Given the description of an element on the screen output the (x, y) to click on. 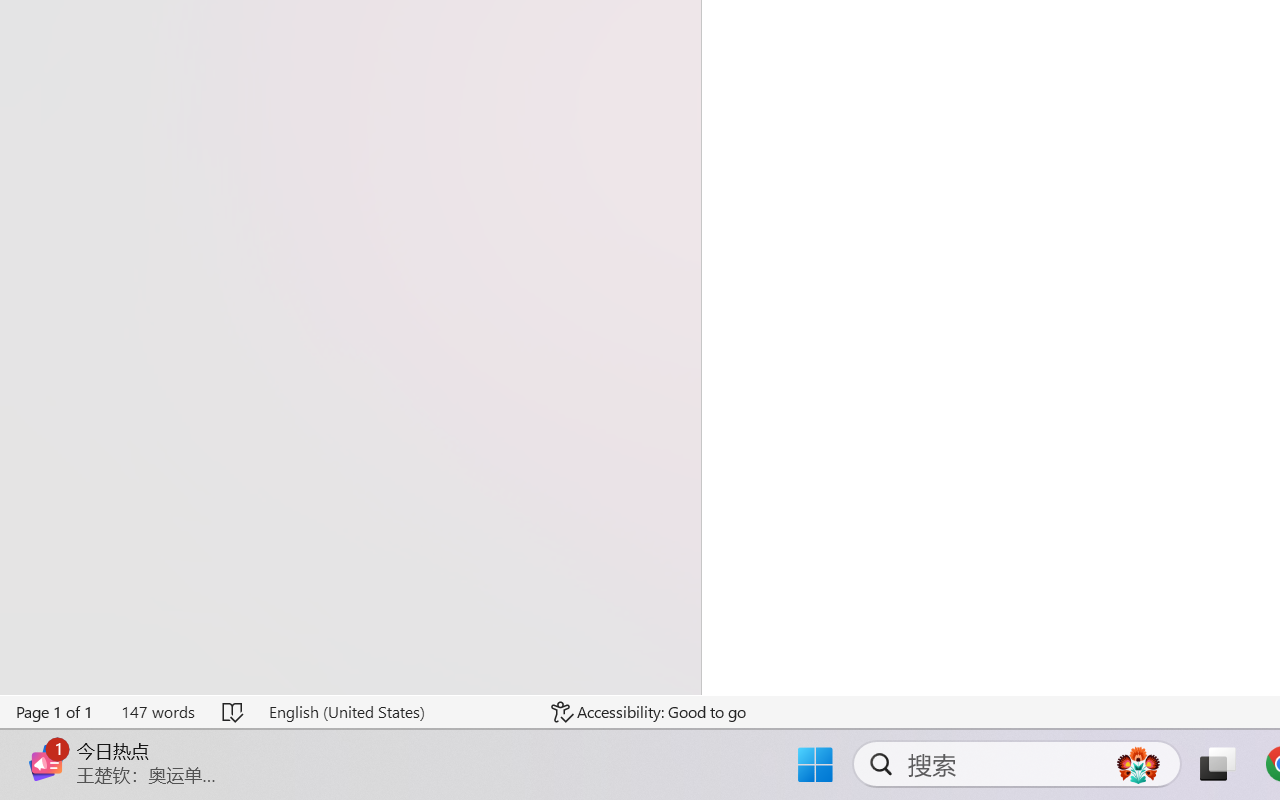
Page Number Page 1 of 1 (55, 712)
